Given the description of an element on the screen output the (x, y) to click on. 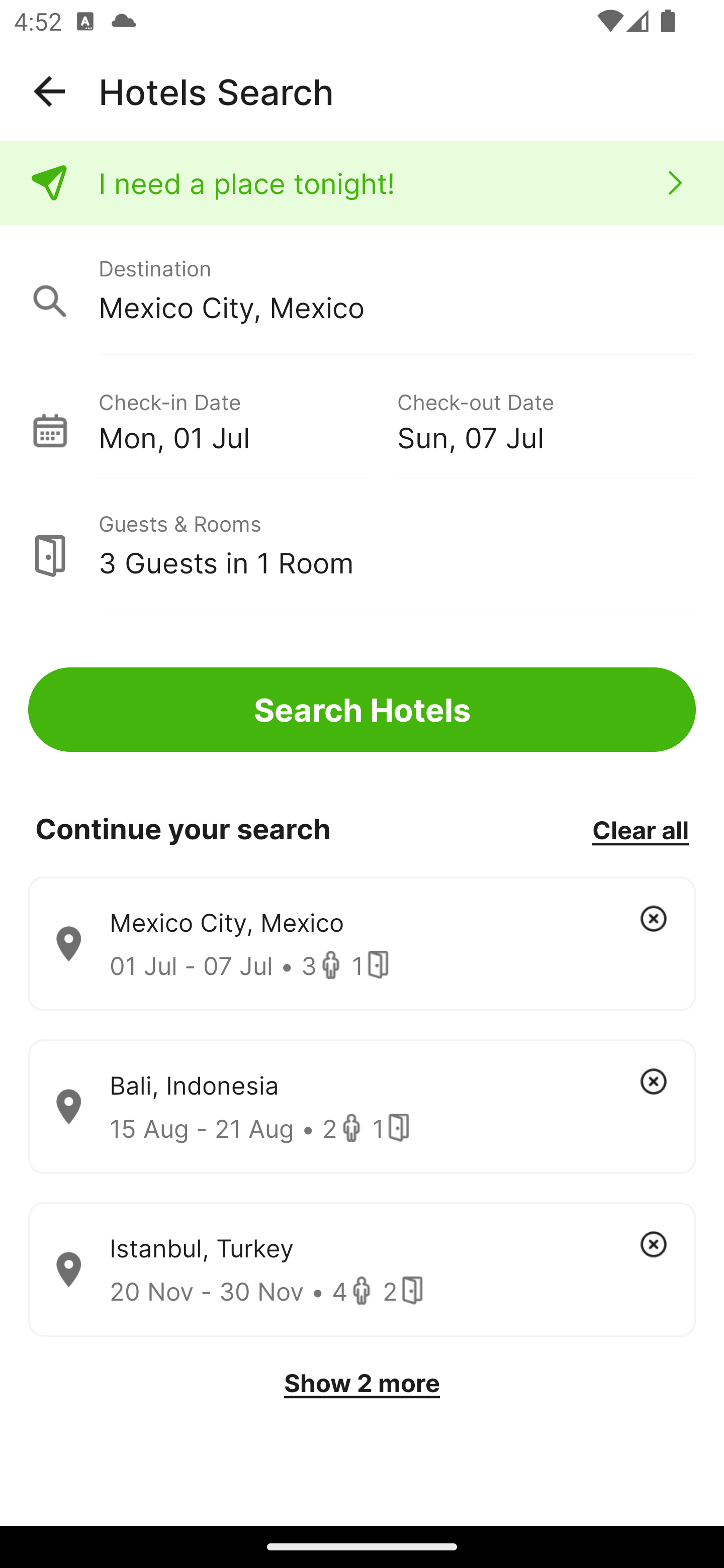
I need a place tonight! (362, 183)
Destination Mexico City, Mexico (362, 290)
Check-in Date Mon, 01 Jul (247, 418)
Check-out Date Sun, 07 Jul (546, 418)
Guests & Rooms 3 Guests in 1 Room (362, 545)
Search Hotels (361, 709)
Clear all (640, 829)
Mexico City, Mexico 01 Jul - 07 Jul • 3  1  (361, 943)
Bali, Indonesia 15 Aug - 21 Aug • 2  1  (361, 1106)
Istanbul, Turkey 20 Nov - 30 Nov • 4  2  (361, 1269)
Show 2 more (362, 1382)
